Given the description of an element on the screen output the (x, y) to click on. 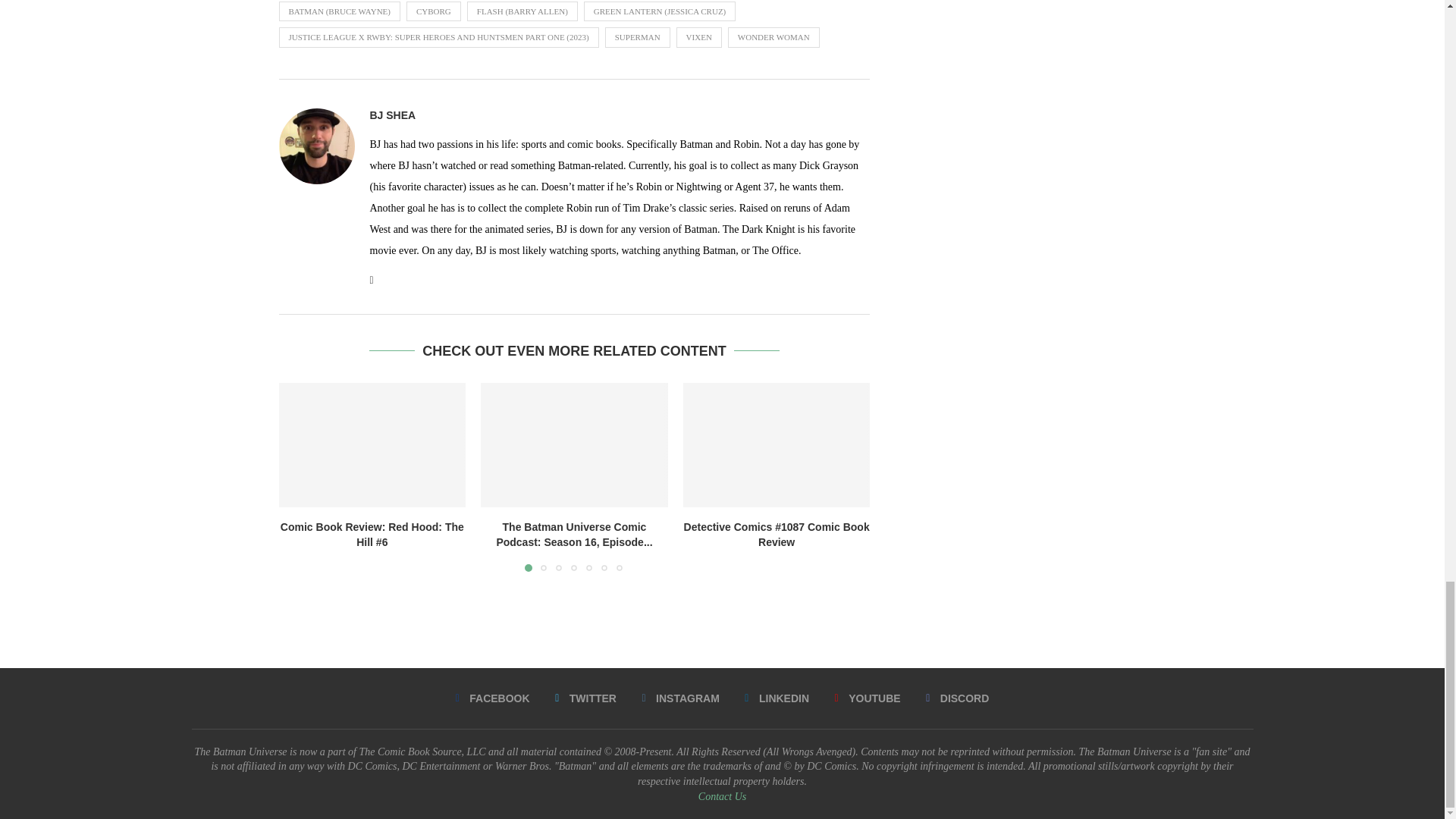
The Batman Universe Comic Podcast: Season 16, Episode 14 (574, 444)
Author BJ Shea (392, 115)
Contact Us (721, 796)
